Given the description of an element on the screen output the (x, y) to click on. 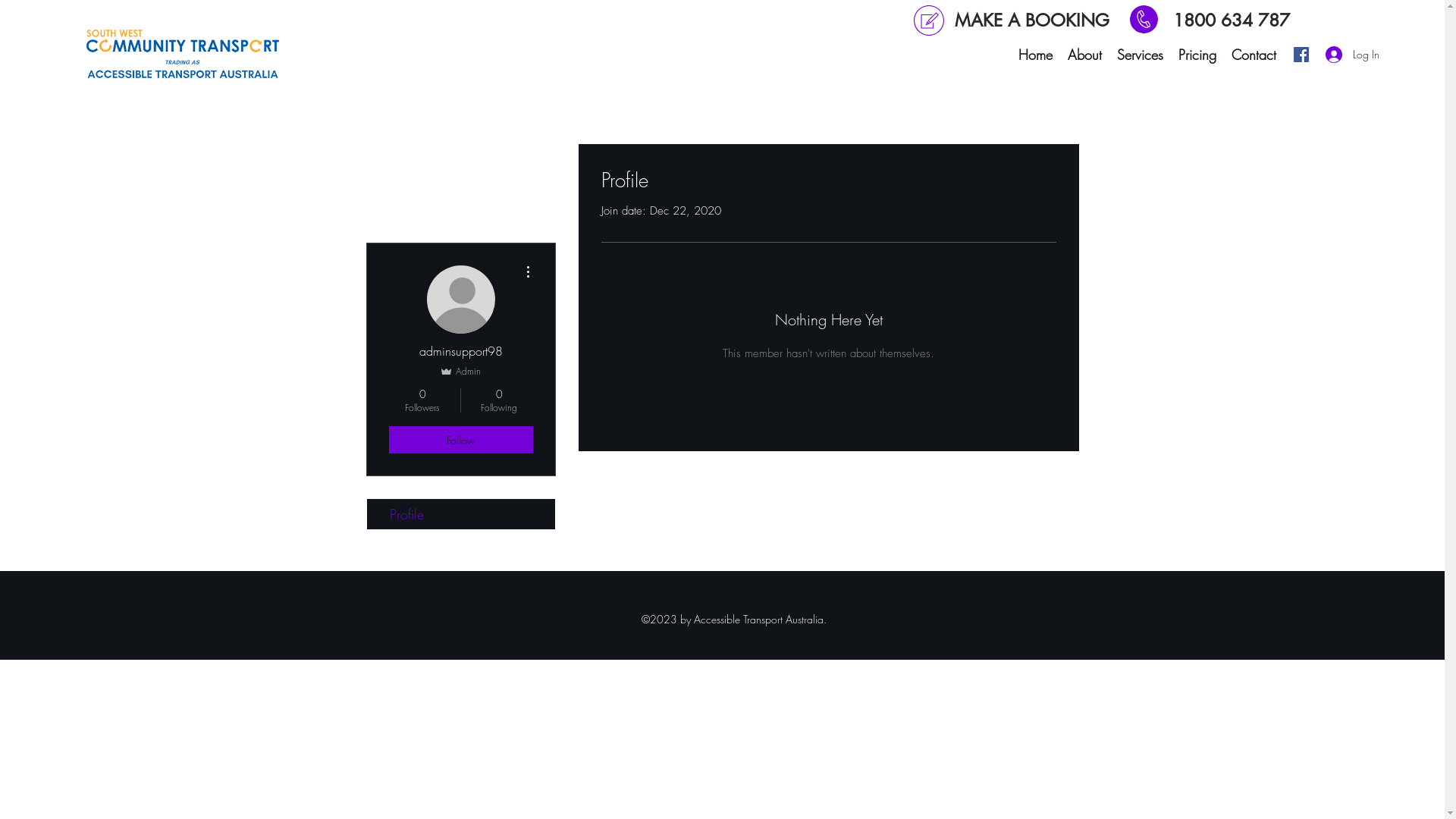
Log In Element type: text (1348, 54)
About Element type: text (1084, 54)
Contact Element type: text (1253, 54)
1800 634 787 Element type: text (1230, 20)
0
Followers Element type: text (421, 400)
Follow Element type: text (460, 439)
0
Following Element type: text (499, 400)
Home Element type: text (1035, 54)
Profile Element type: text (461, 513)
Pricing Element type: text (1196, 54)
Services Element type: text (1139, 54)
MAKE A BOOKING Element type: text (1030, 20)
